Given the description of an element on the screen output the (x, y) to click on. 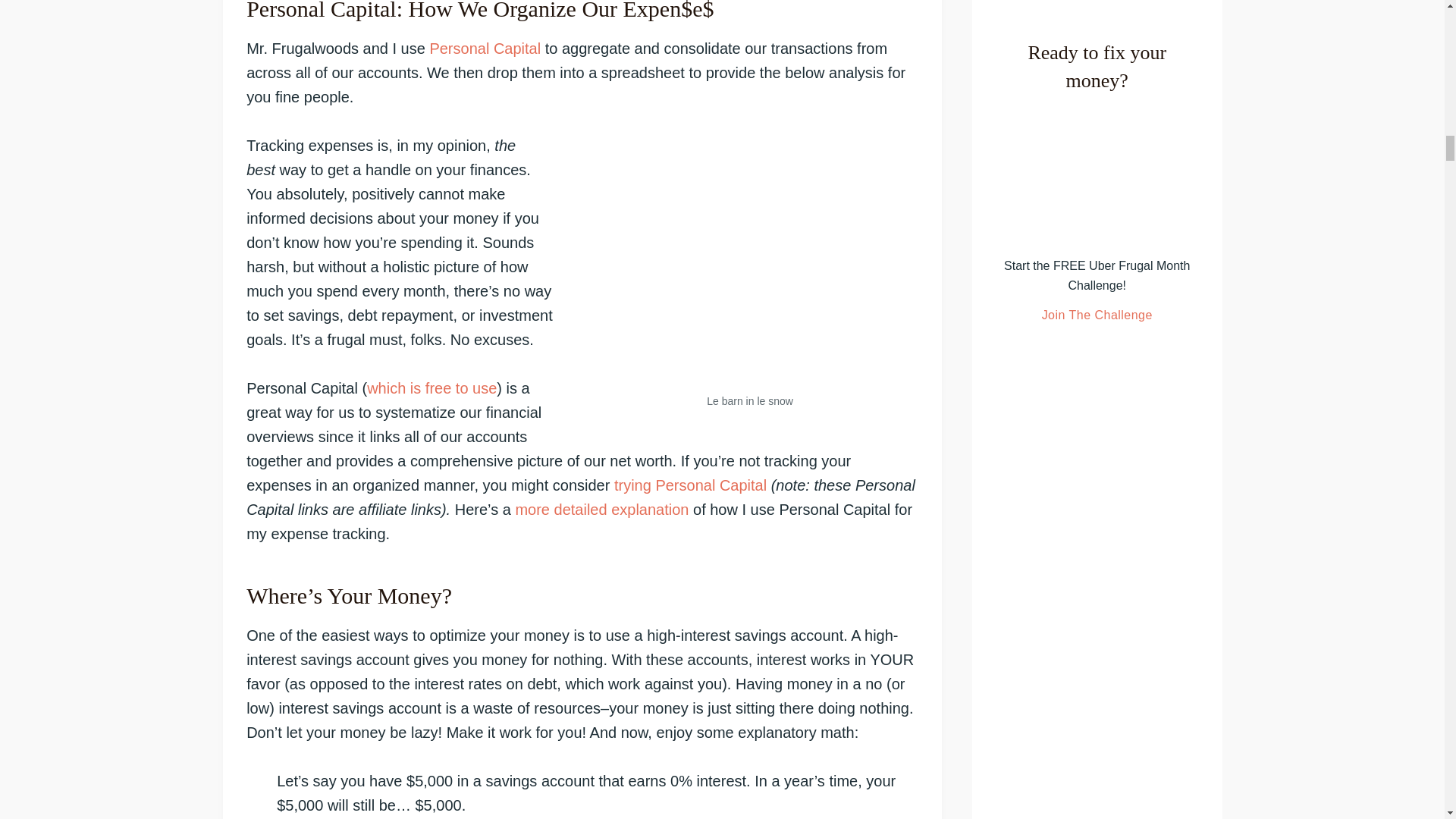
Personal Capital (484, 48)
trying Personal Capital (690, 484)
Personal Capital (431, 388)
which is free to use (431, 388)
Personal Capital (690, 484)
Personal Capital (484, 48)
